Given the description of an element on the screen output the (x, y) to click on. 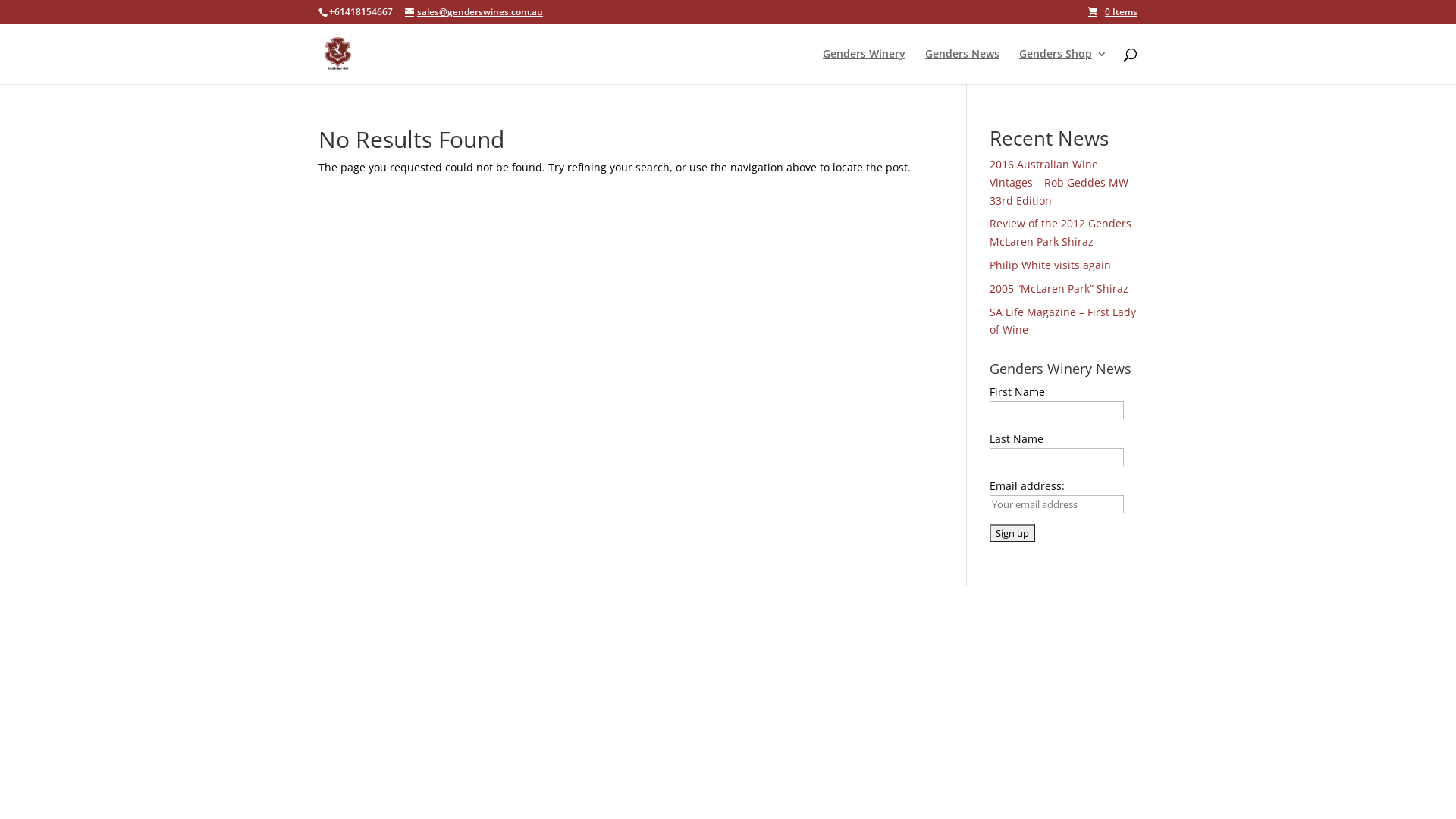
Genders News Element type: text (962, 66)
Philip White visits again Element type: text (1049, 264)
sales@genderswines.com.au Element type: text (473, 11)
0 Items Element type: text (1112, 11)
Sign up Element type: text (1012, 533)
Genders Winery Element type: text (863, 66)
Review of the 2012 Genders McLaren Park Shiraz Element type: text (1060, 232)
Genders Shop Element type: text (1063, 66)
